Given the description of an element on the screen output the (x, y) to click on. 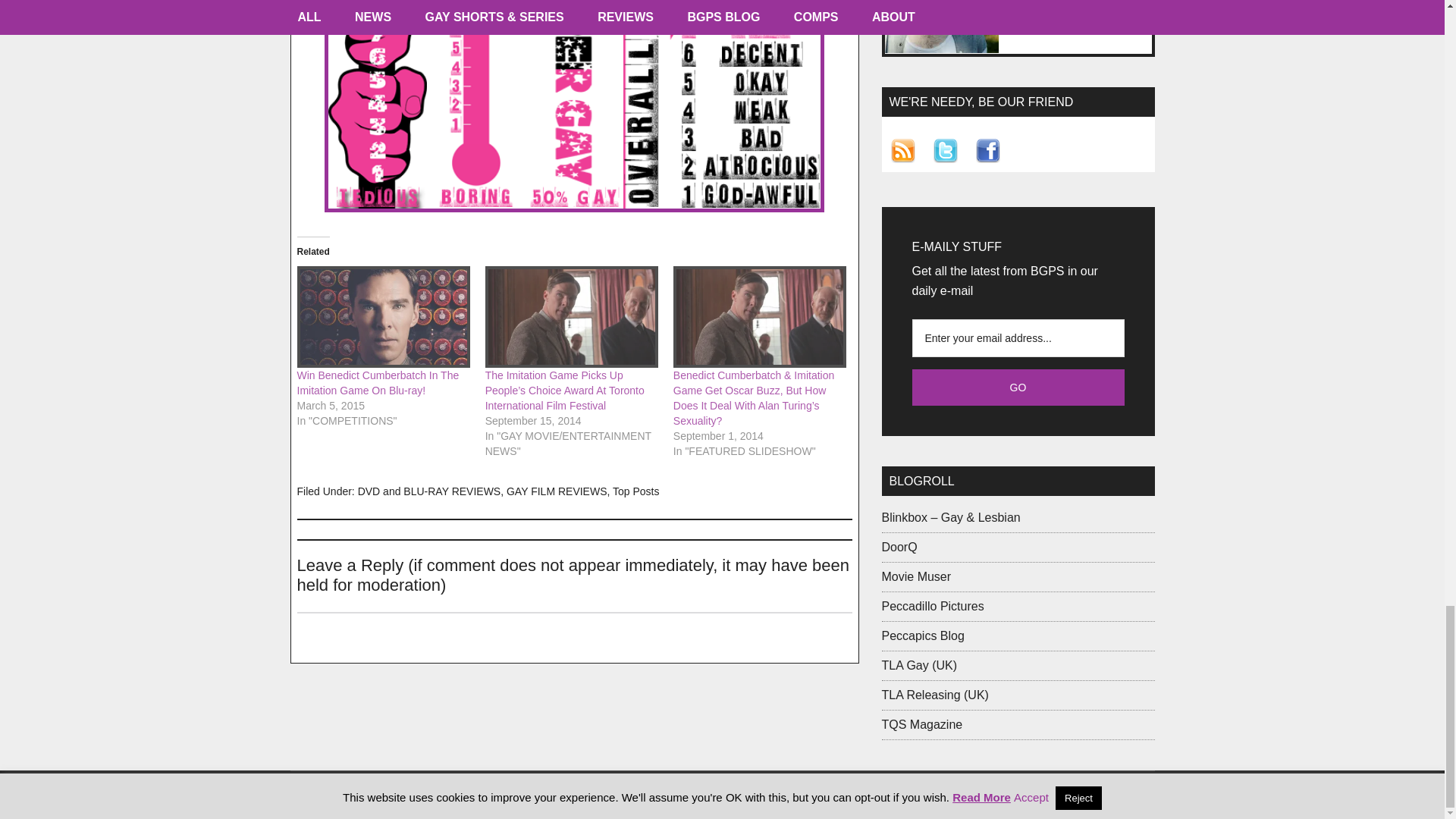
Go (1017, 387)
